Given the description of an element on the screen output the (x, y) to click on. 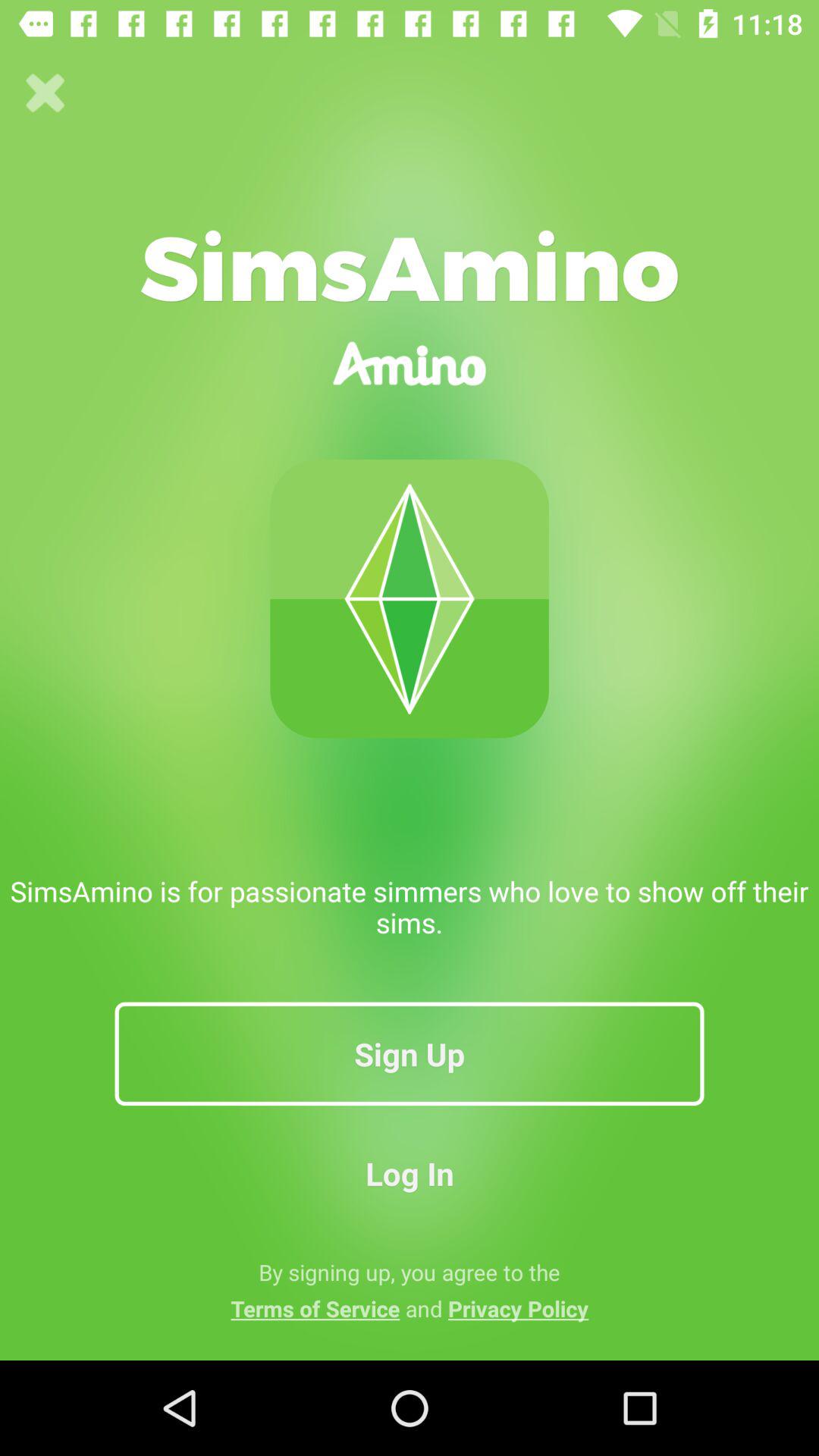
flip until the terms of service app (409, 1308)
